Given the description of an element on the screen output the (x, y) to click on. 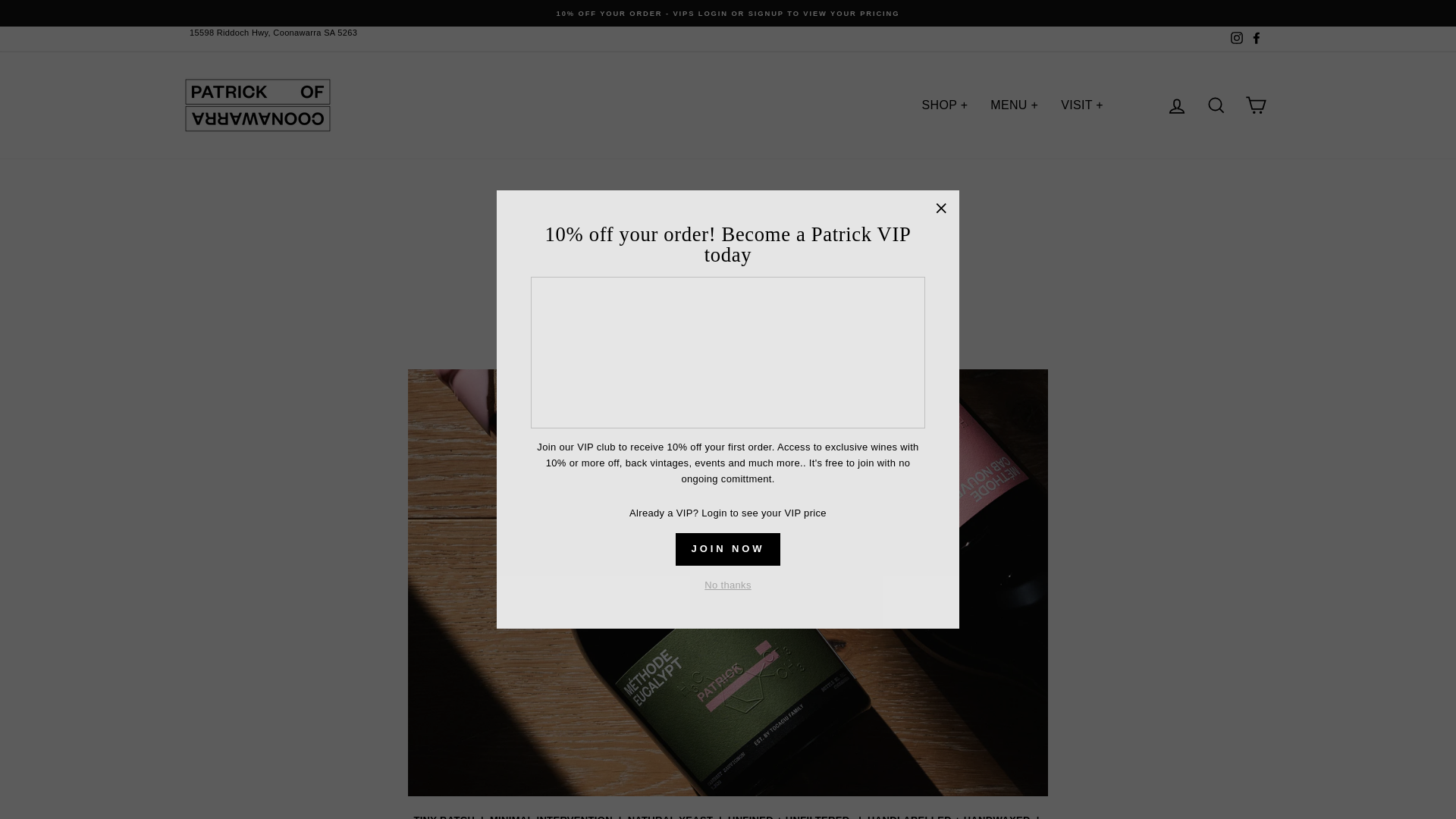
Patrick of Coonawarra on Instagram (1236, 38)
Patrick of Coonawarra on Facebook (1256, 38)
